Given the description of an element on the screen output the (x, y) to click on. 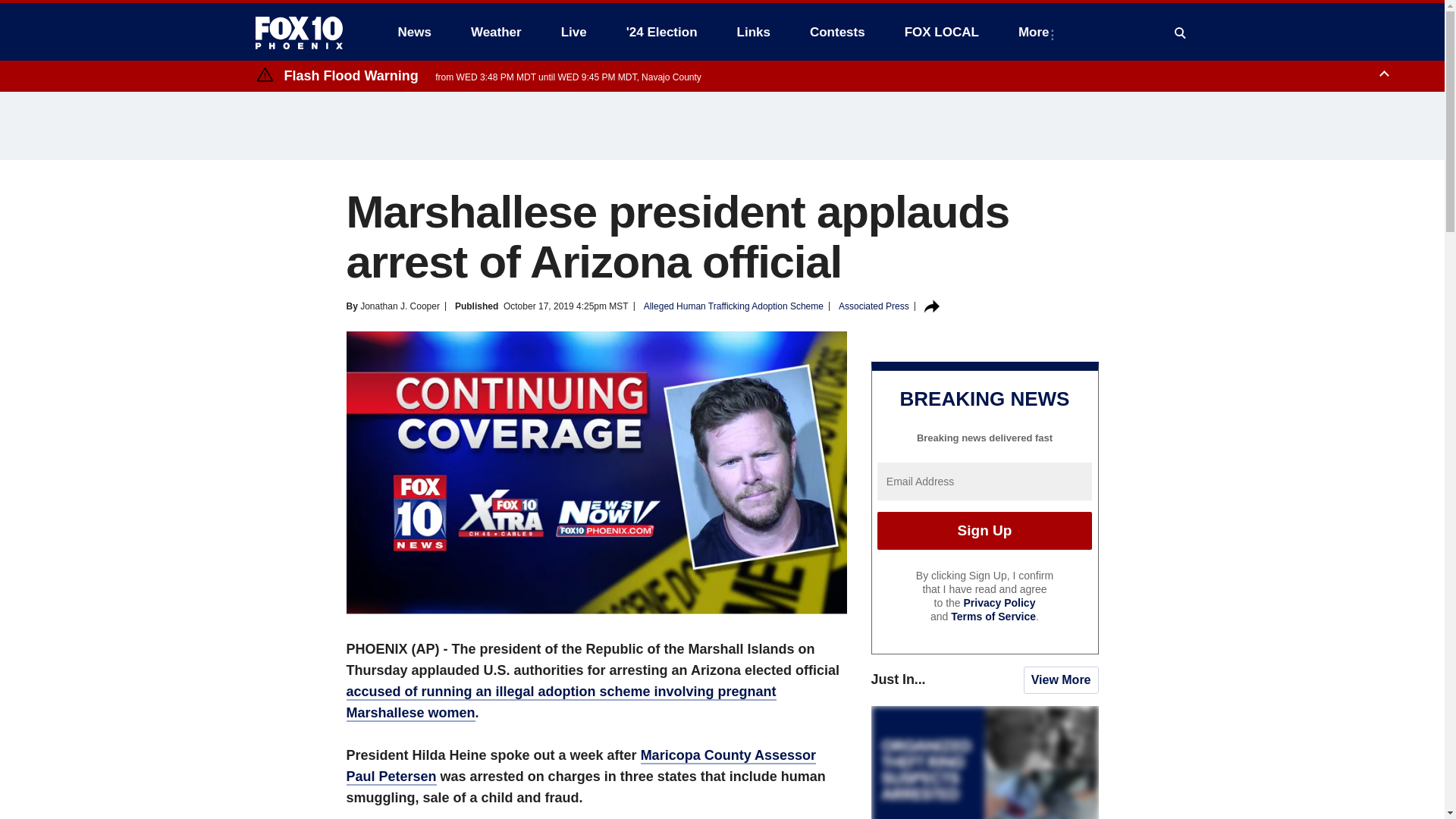
Links (754, 32)
'24 Election (662, 32)
Sign Up (984, 530)
More (1036, 32)
Live (573, 32)
Contests (837, 32)
FOX LOCAL (941, 32)
Weather (496, 32)
News (413, 32)
